Given the description of an element on the screen output the (x, y) to click on. 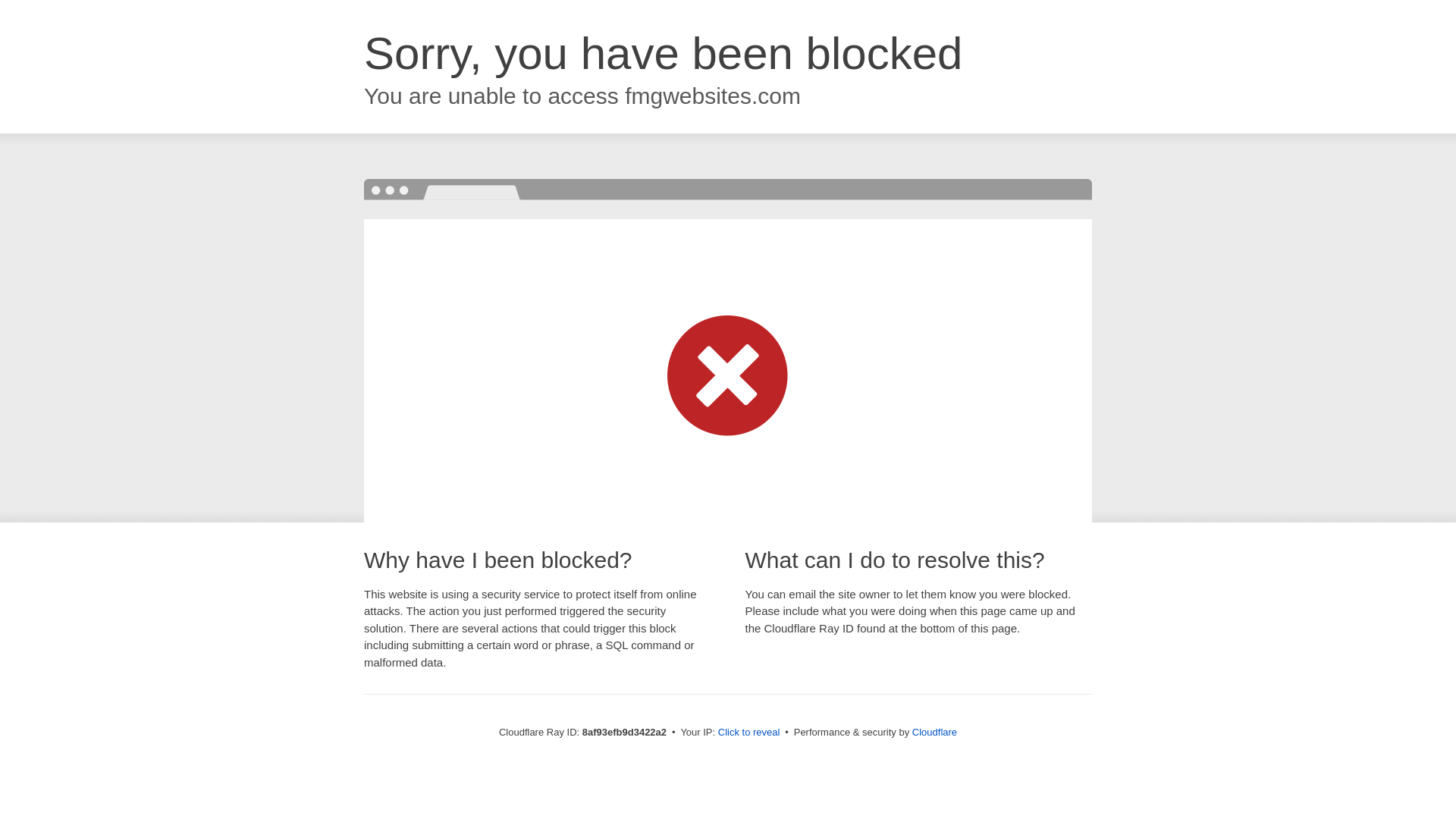
Click to reveal (748, 732)
Cloudflare (934, 731)
